Given the description of an element on the screen output the (x, y) to click on. 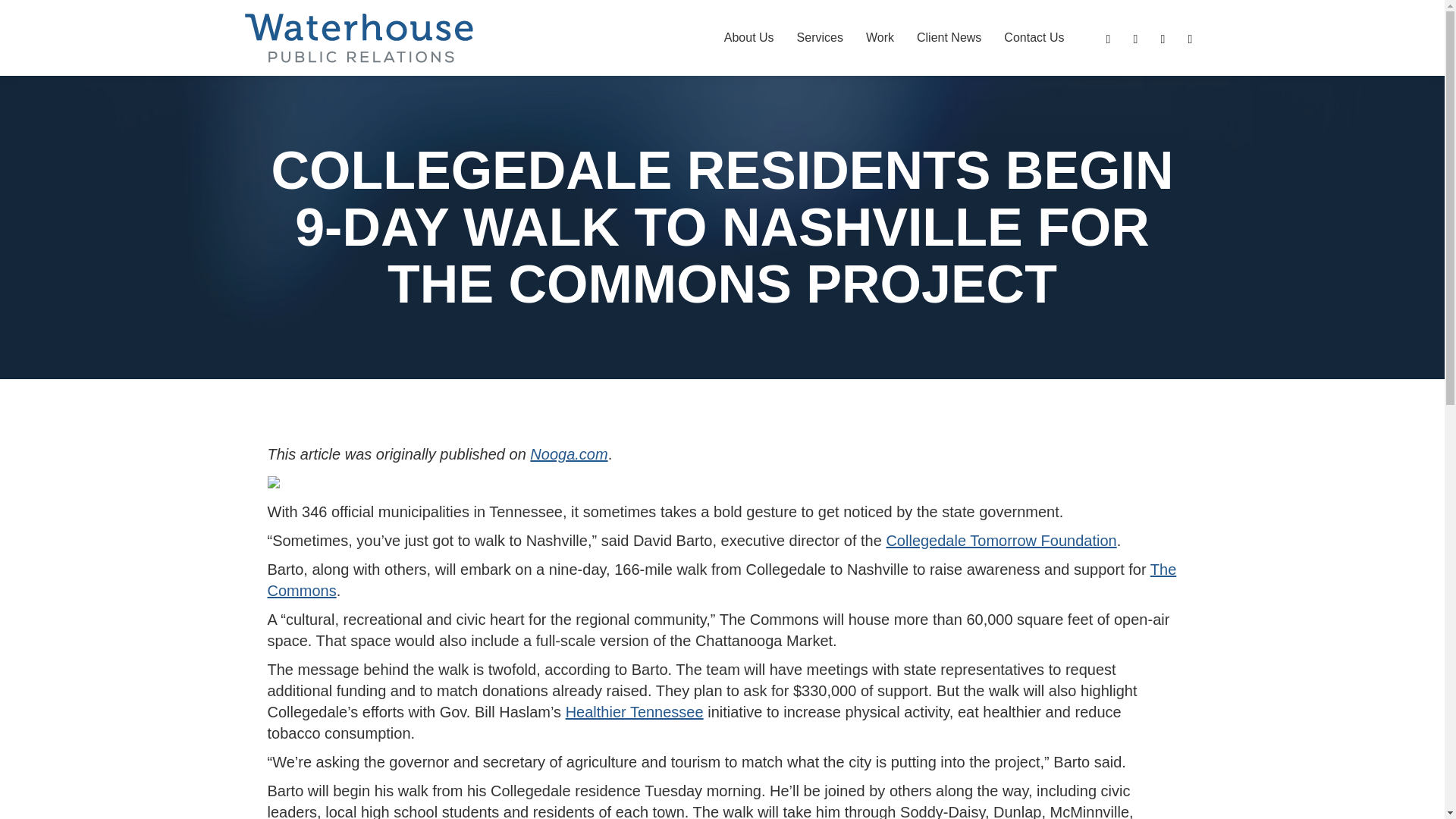
Instagram page opens in new window (1162, 38)
Services (820, 38)
Twitter page opens in new window (1189, 38)
Facebook page opens in new window (1134, 38)
Instagram page opens in new window (1162, 38)
Contact Us (1033, 38)
Twitter page opens in new window (1189, 38)
Client News (948, 38)
Linkedin page opens in new window (1107, 38)
Facebook page opens in new window (1134, 38)
Nooga.com (568, 453)
Work (879, 38)
Healthier Tennessee (634, 711)
Collegedale Tomorrow Foundation (1000, 540)
About Us (749, 38)
